Given the description of an element on the screen output the (x, y) to click on. 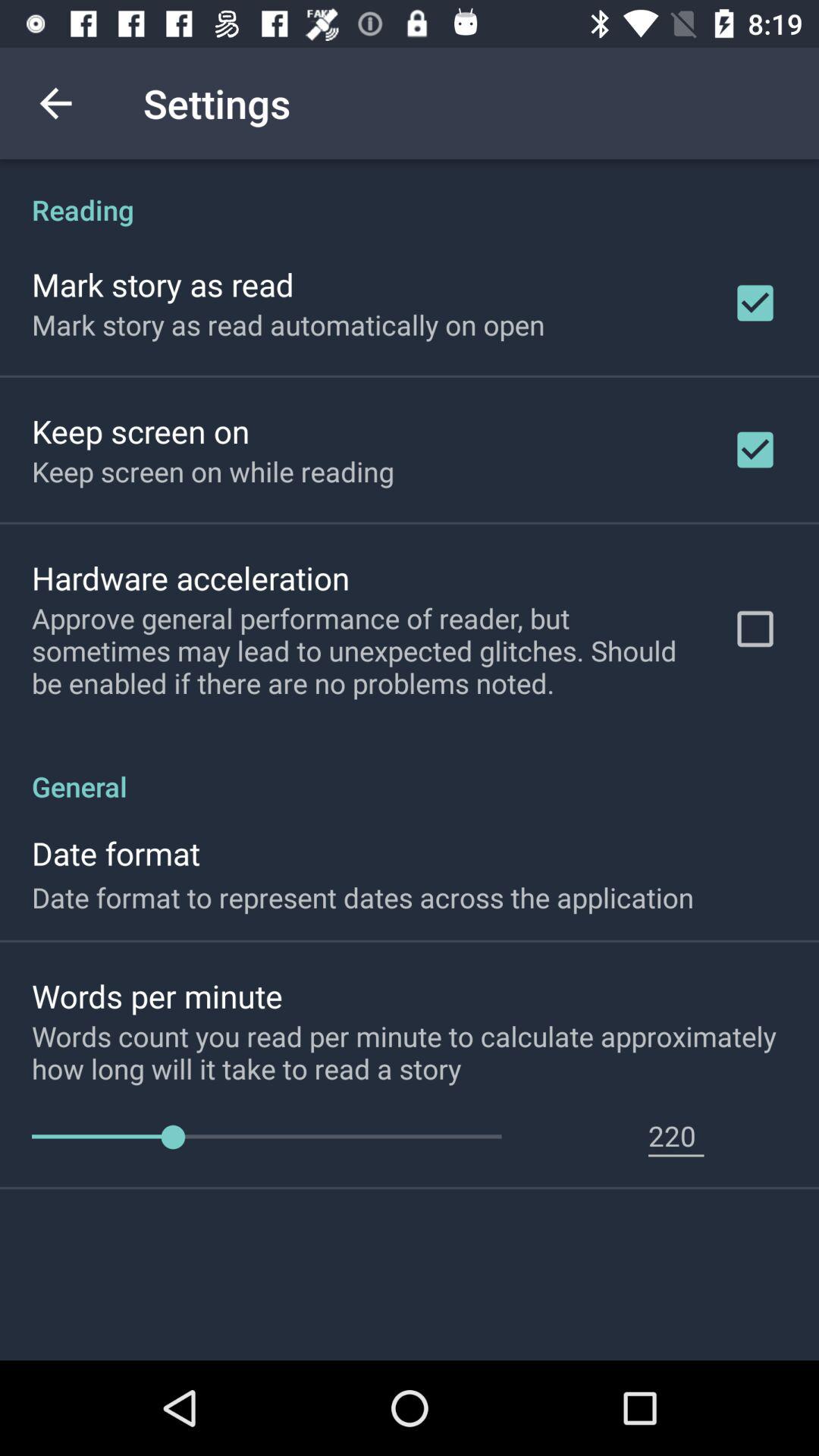
tap icon to the left of the 220 icon (266, 1137)
